Given the description of an element on the screen output the (x, y) to click on. 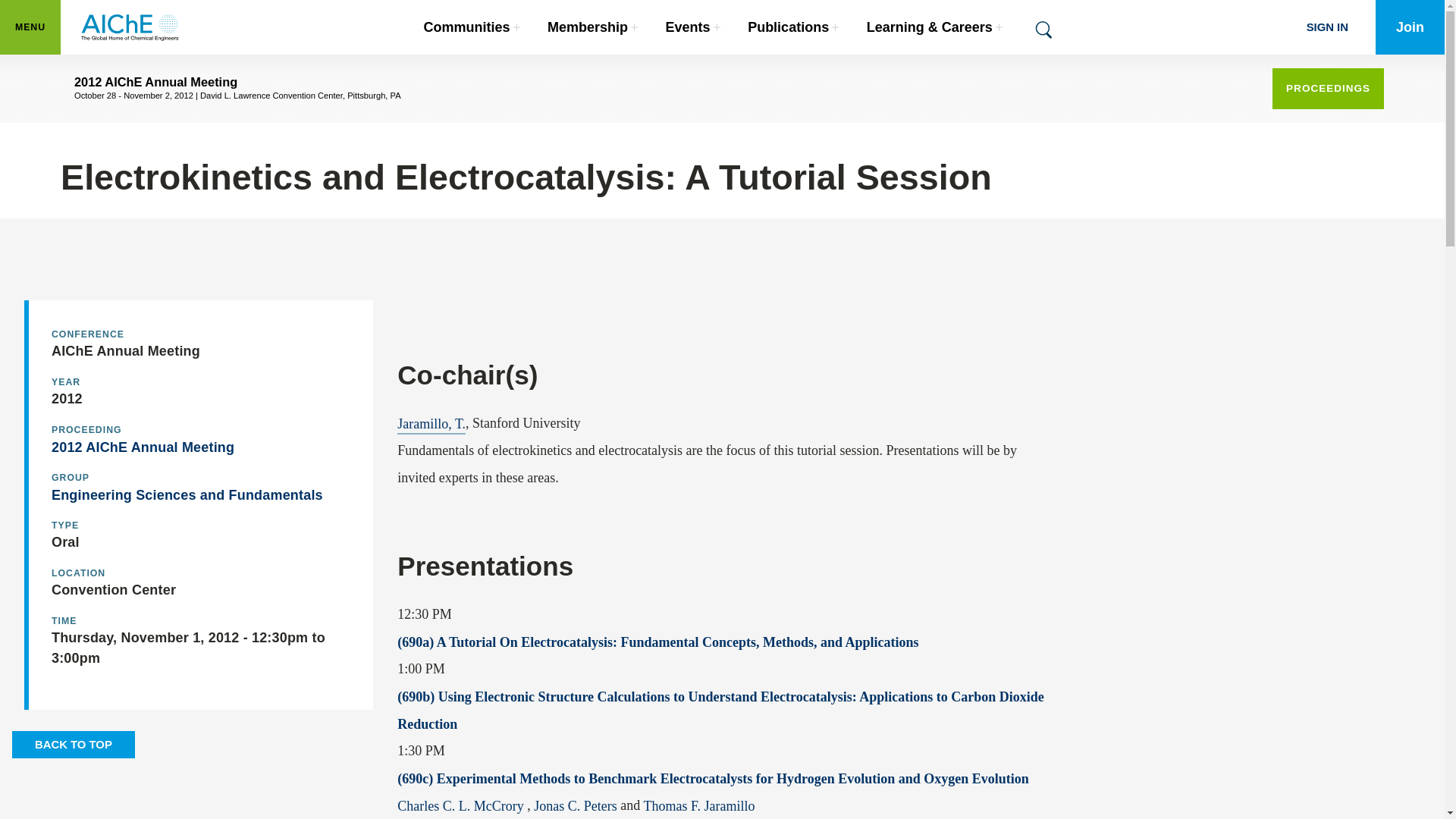
Go to AIChE Home (472, 27)
